Given the description of an element on the screen output the (x, y) to click on. 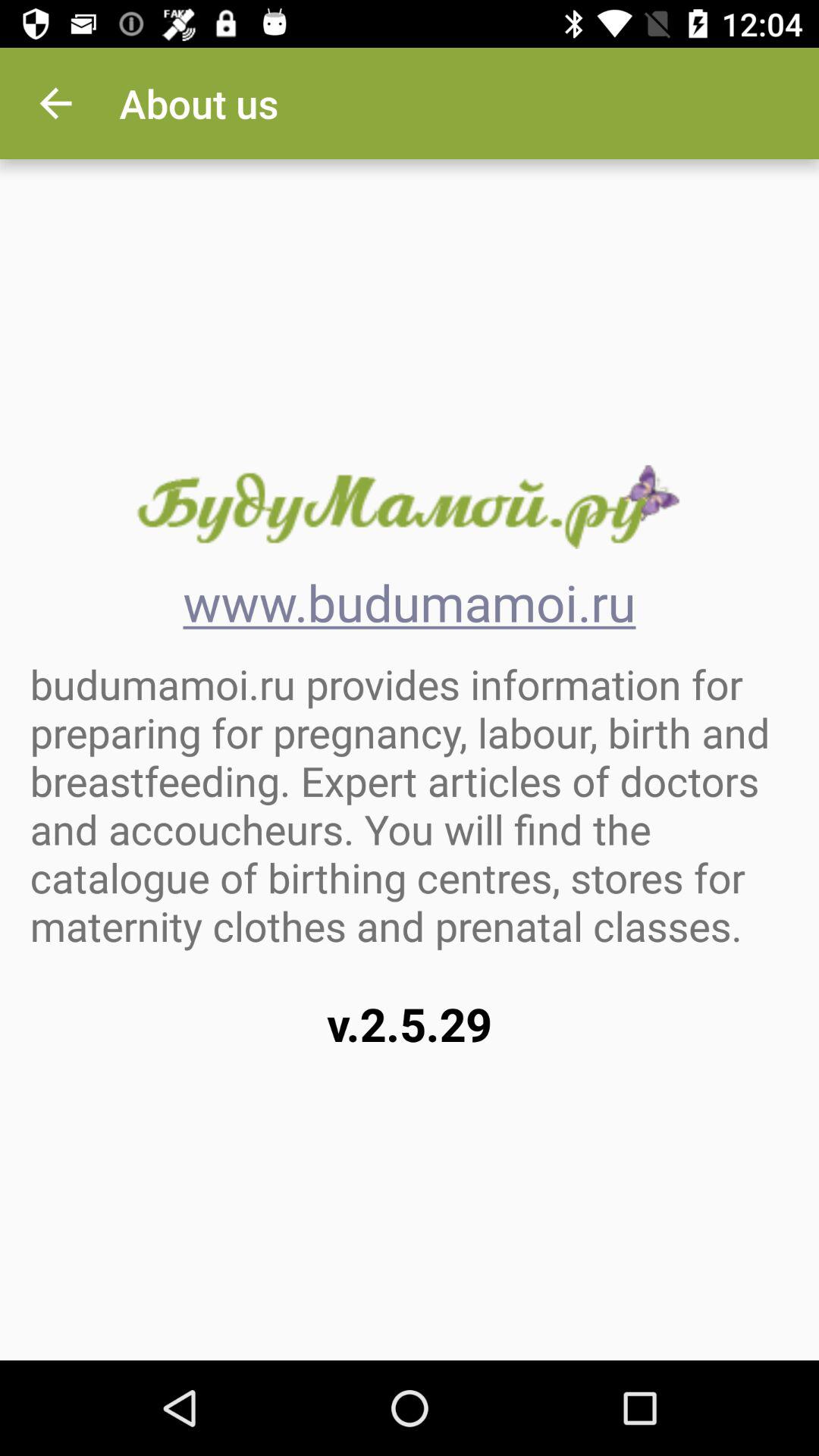
turn on item above budumamoi ru provides icon (55, 103)
